Given the description of an element on the screen output the (x, y) to click on. 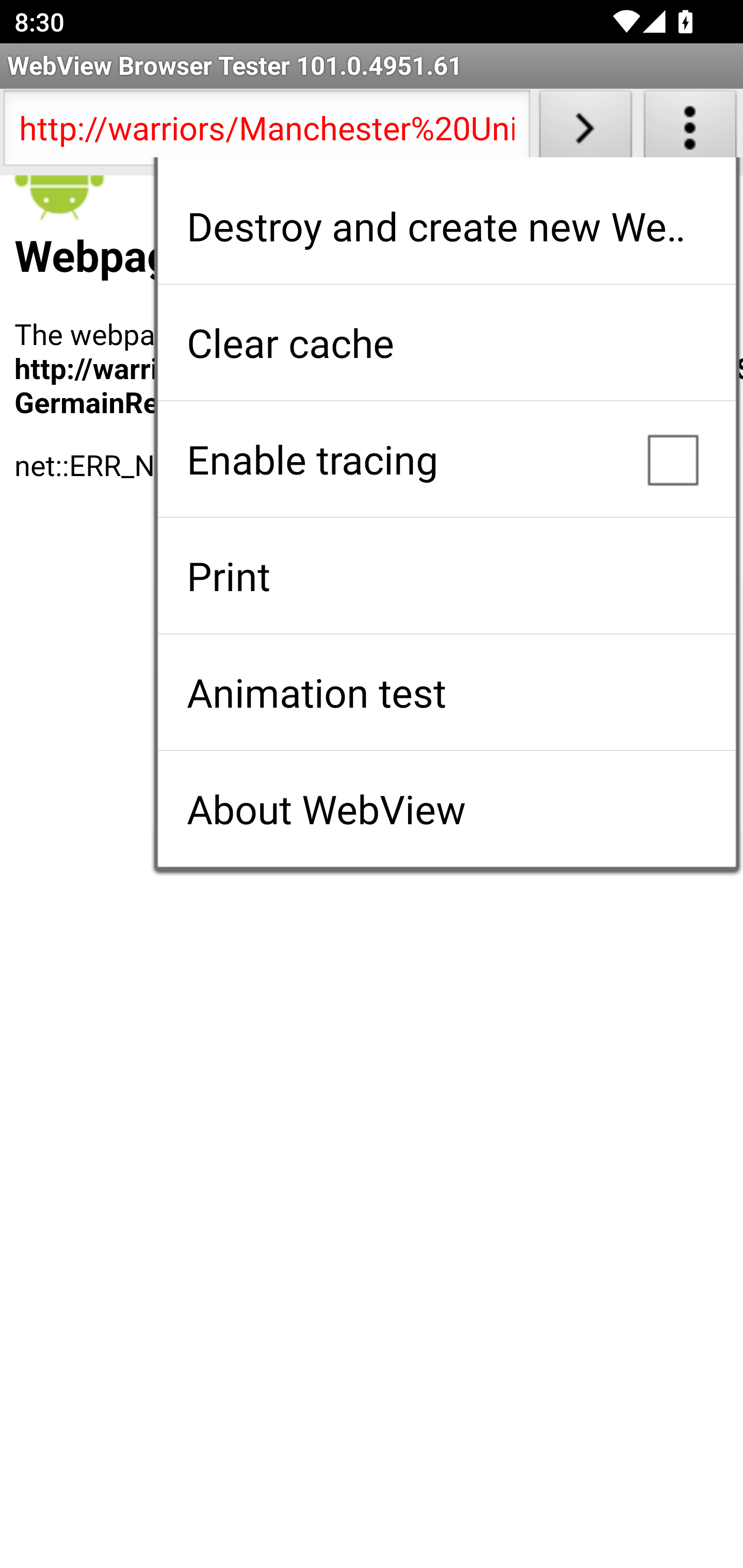
Destroy and create new WebView (446, 225)
Clear cache (446, 342)
Enable tracing (446, 459)
Print (446, 575)
Animation test (446, 692)
About WebView (446, 809)
